Given the description of an element on the screen output the (x, y) to click on. 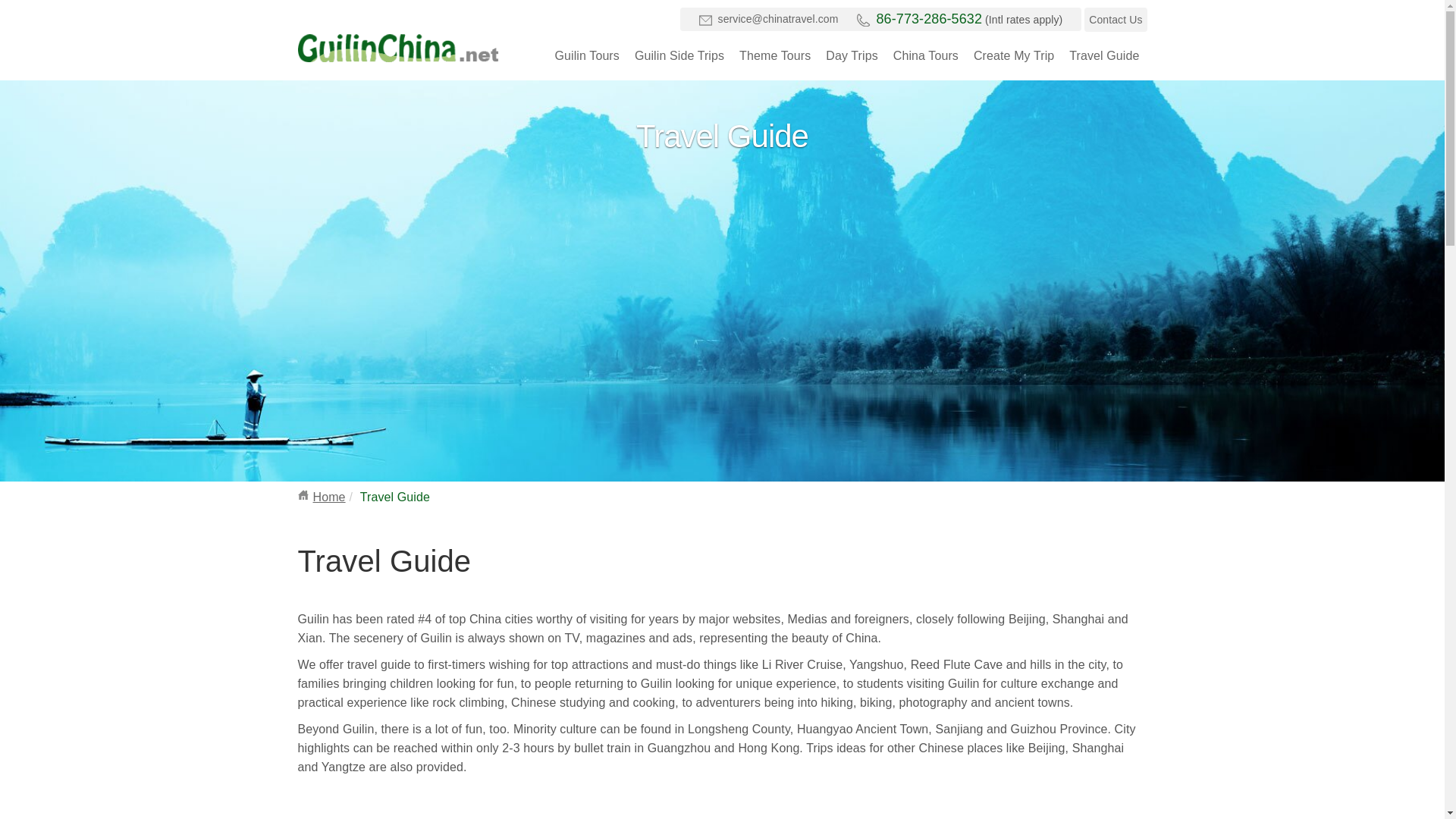
Home (329, 496)
Contact Us (1115, 19)
Guilin Side Trips (678, 55)
Create My Trip (1014, 55)
Theme Tours (774, 55)
Day Trips (851, 55)
Guilin Tour Services (397, 48)
Guilin Tours (587, 55)
China Tours (925, 55)
Travel Guide (1103, 55)
